Given the description of an element on the screen output the (x, y) to click on. 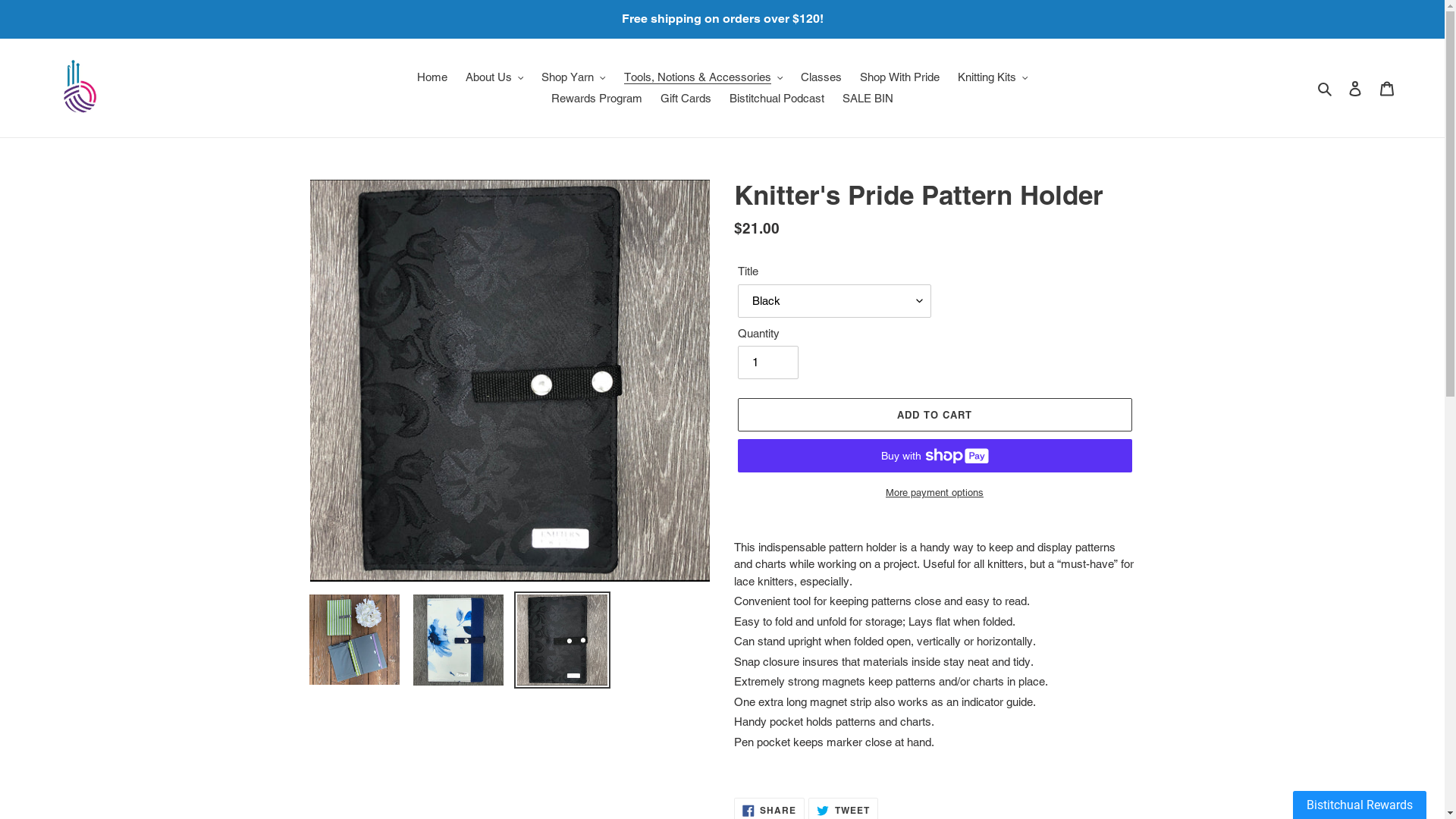
Home Element type: text (432, 77)
Search Element type: text (1325, 87)
Shop Yarn Element type: text (573, 77)
Gift Cards Element type: text (685, 98)
Free shipping on orders over $120! Element type: text (722, 18)
More payment options Element type: text (934, 492)
About Us Element type: text (494, 77)
Log in Element type: text (1355, 88)
Knitting Kits Element type: text (992, 77)
Rewards Program Element type: text (596, 98)
Shop With Pride Element type: text (899, 77)
Cart Element type: text (1386, 88)
Tools, Notions & Accessories Element type: text (702, 77)
Classes Element type: text (821, 77)
SALE BIN Element type: text (867, 98)
ADD TO CART Element type: text (934, 414)
Bistitchual Podcast Element type: text (776, 98)
